Given the description of an element on the screen output the (x, y) to click on. 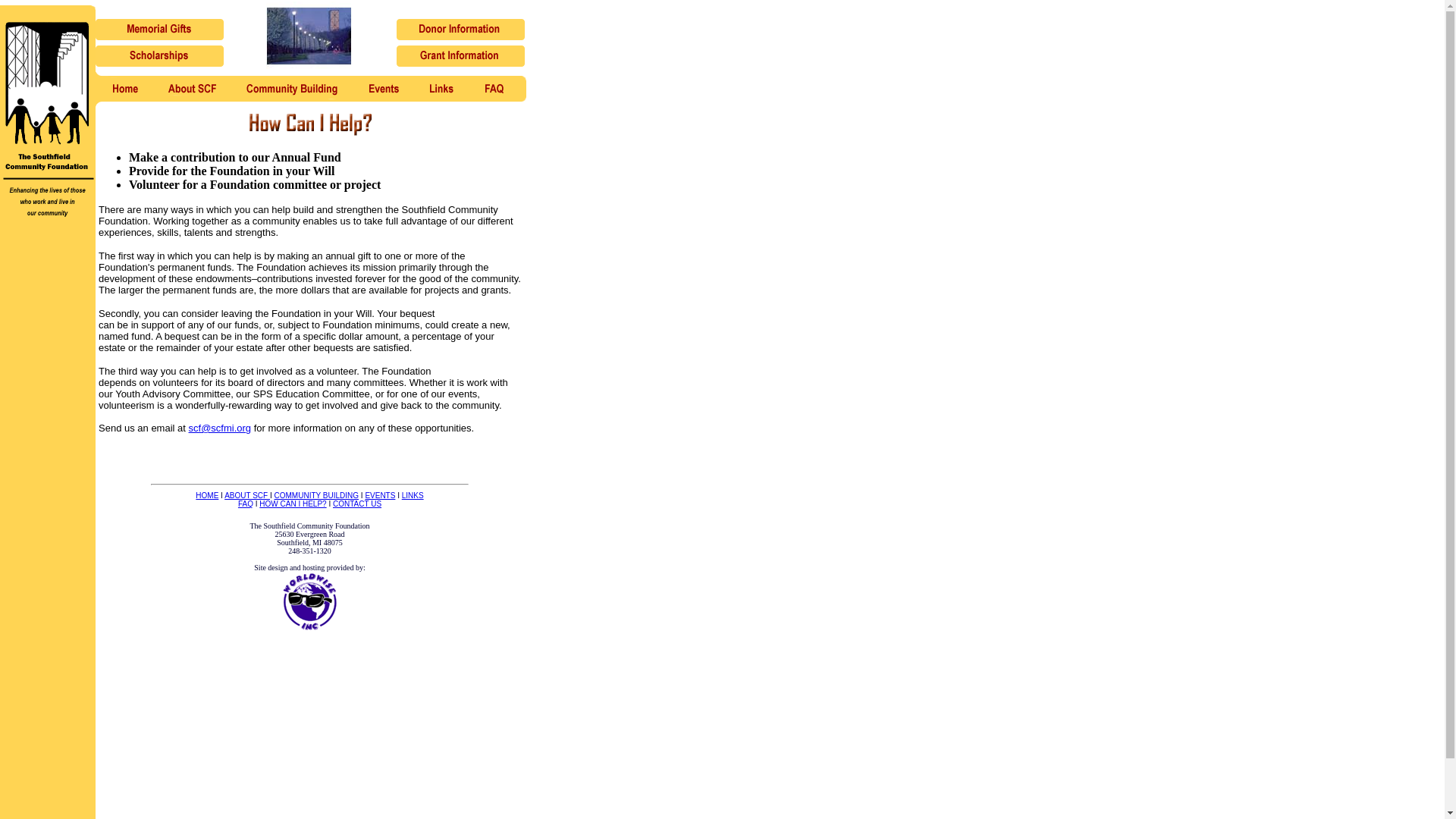
LINKS (412, 495)
CONTACT US (357, 503)
COMMUNITY BUILDING (317, 495)
ABOUT SCF (246, 495)
EVENTS (379, 495)
FAQ (245, 503)
HOME (206, 495)
HOW CAN I HELP? (292, 503)
